Given the description of an element on the screen output the (x, y) to click on. 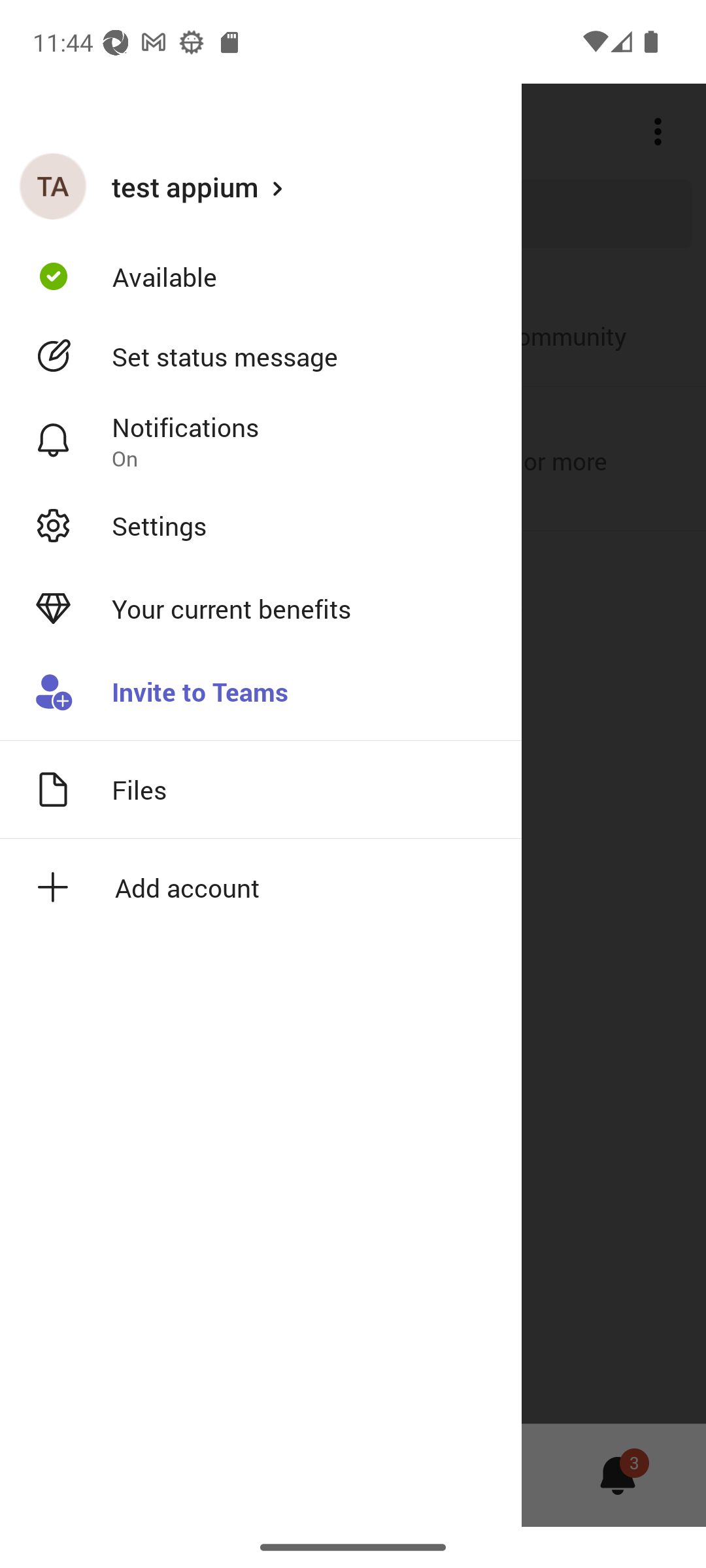
test appium (260, 186)
test appium profile picture (53, 186)
Notifications Notification settings On (260, 441)
Settings Open settings (260, 525)
Your current benefits (260, 608)
Invite to Teams Invite someone to your Teams org (260, 691)
Files (260, 789)
Add account icon Add account (260, 887)
